Given the description of an element on the screen output the (x, y) to click on. 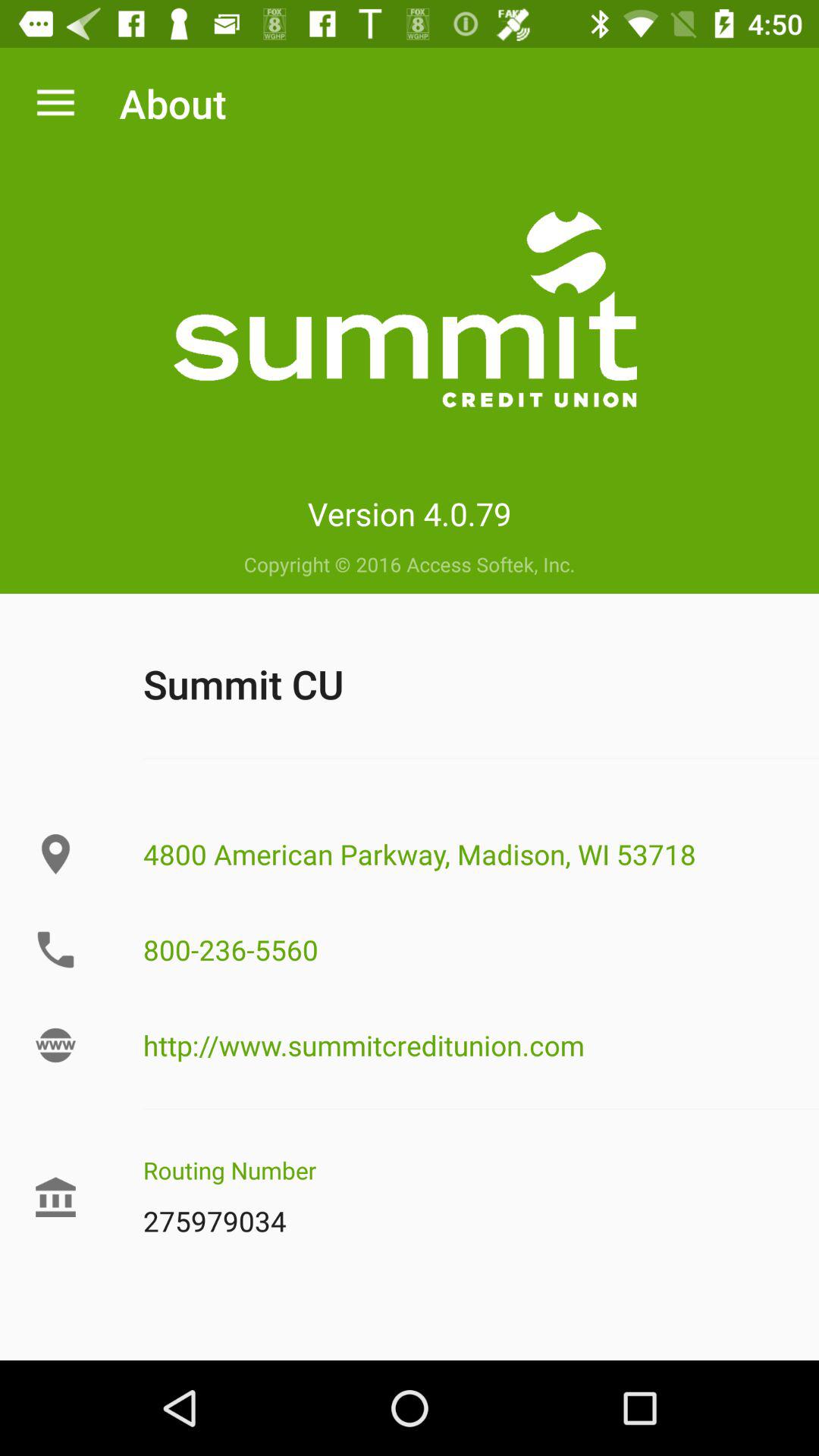
launch the icon below 800-236-5560 icon (481, 1045)
